Given the description of an element on the screen output the (x, y) to click on. 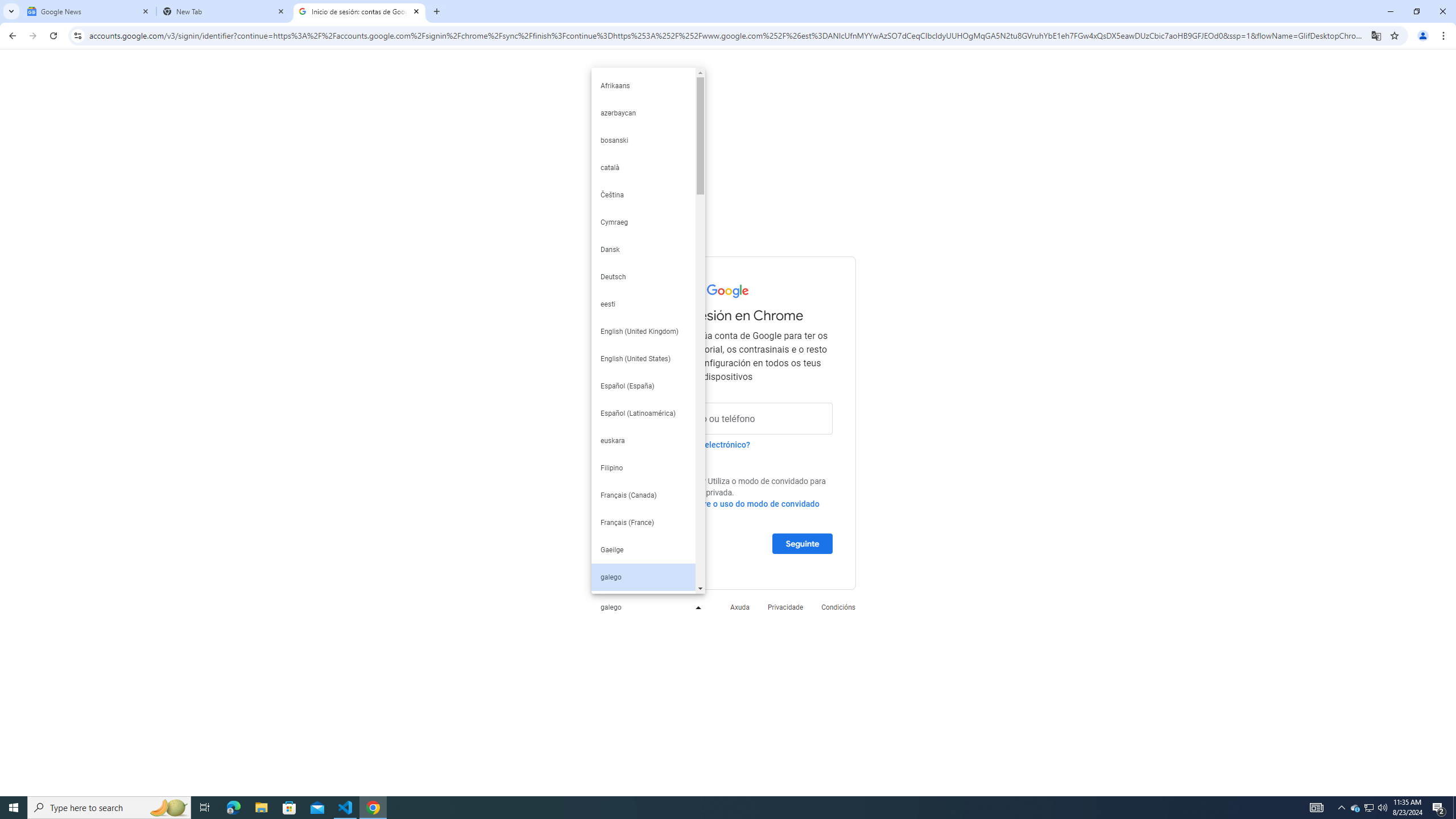
View site information (77, 35)
galego (643, 577)
Dansk (643, 249)
English (United Kingdom) (643, 331)
Deutsch (643, 276)
Crear conta (645, 543)
System (6, 6)
bosanski (643, 139)
Gaeilge (643, 549)
eesti (643, 303)
System (6, 6)
English (United States) (643, 358)
Hrvatski (643, 604)
